Given the description of an element on the screen output the (x, y) to click on. 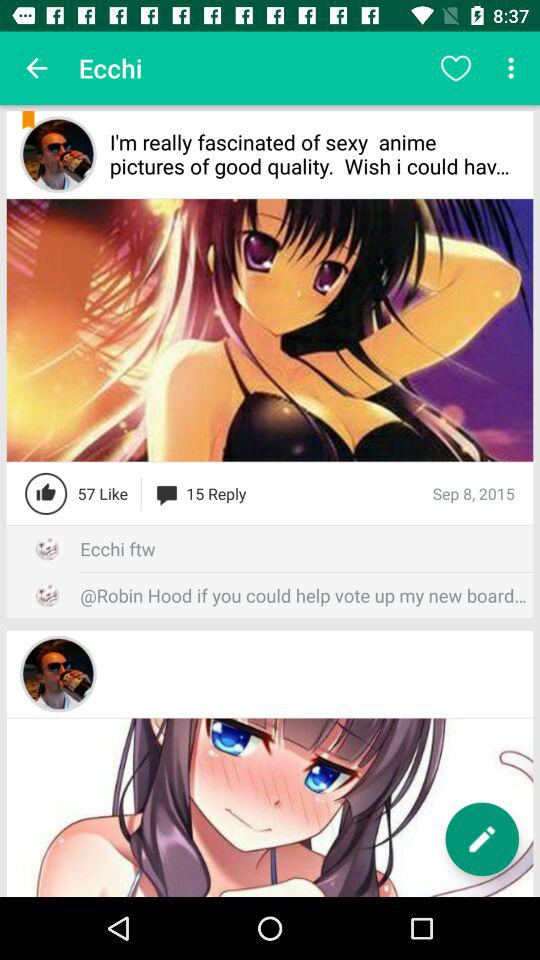
open the item next to the ecchi  app (36, 68)
